Given the description of an element on the screen output the (x, y) to click on. 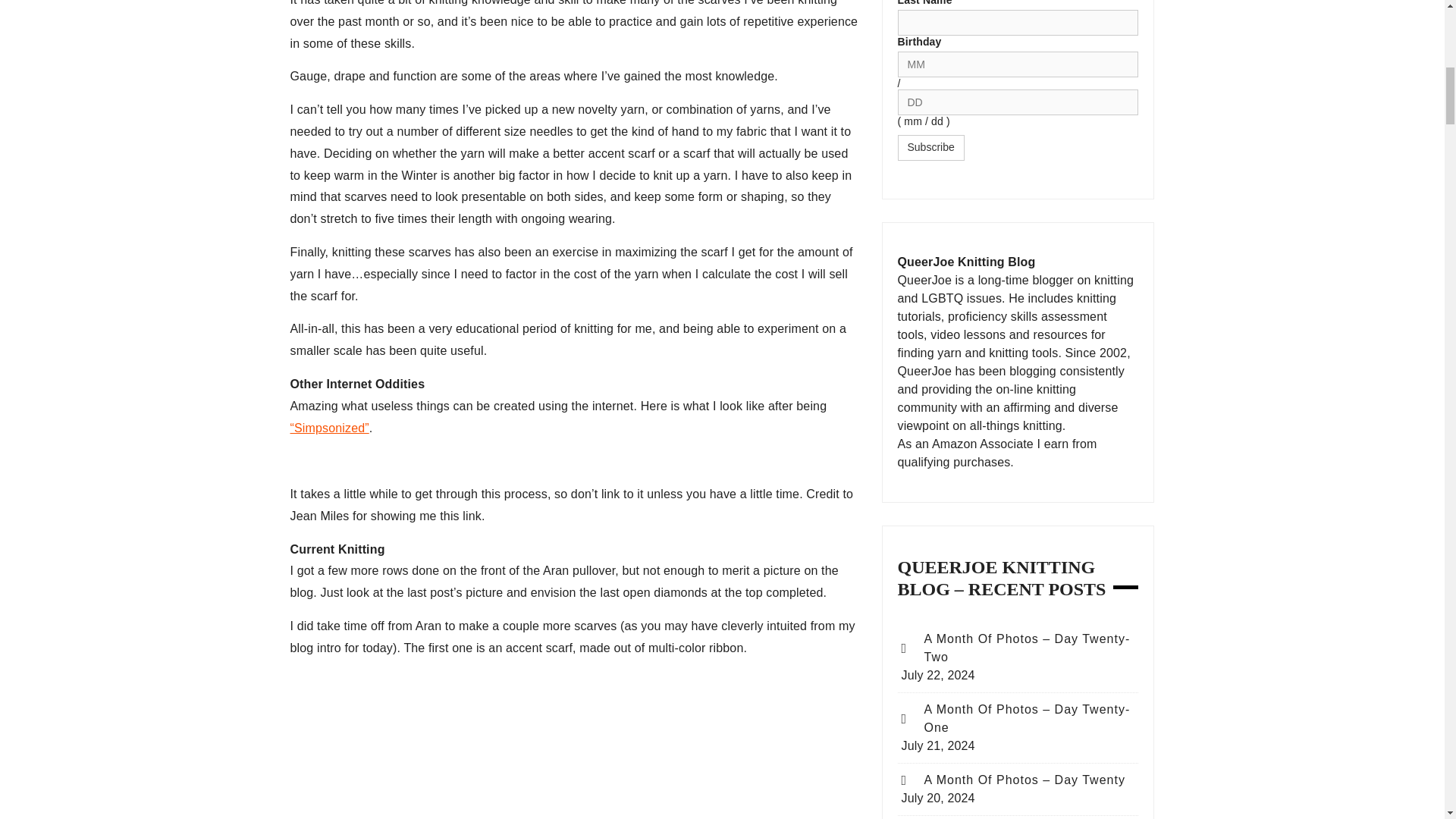
Subscribe (930, 147)
